Given the description of an element on the screen output the (x, y) to click on. 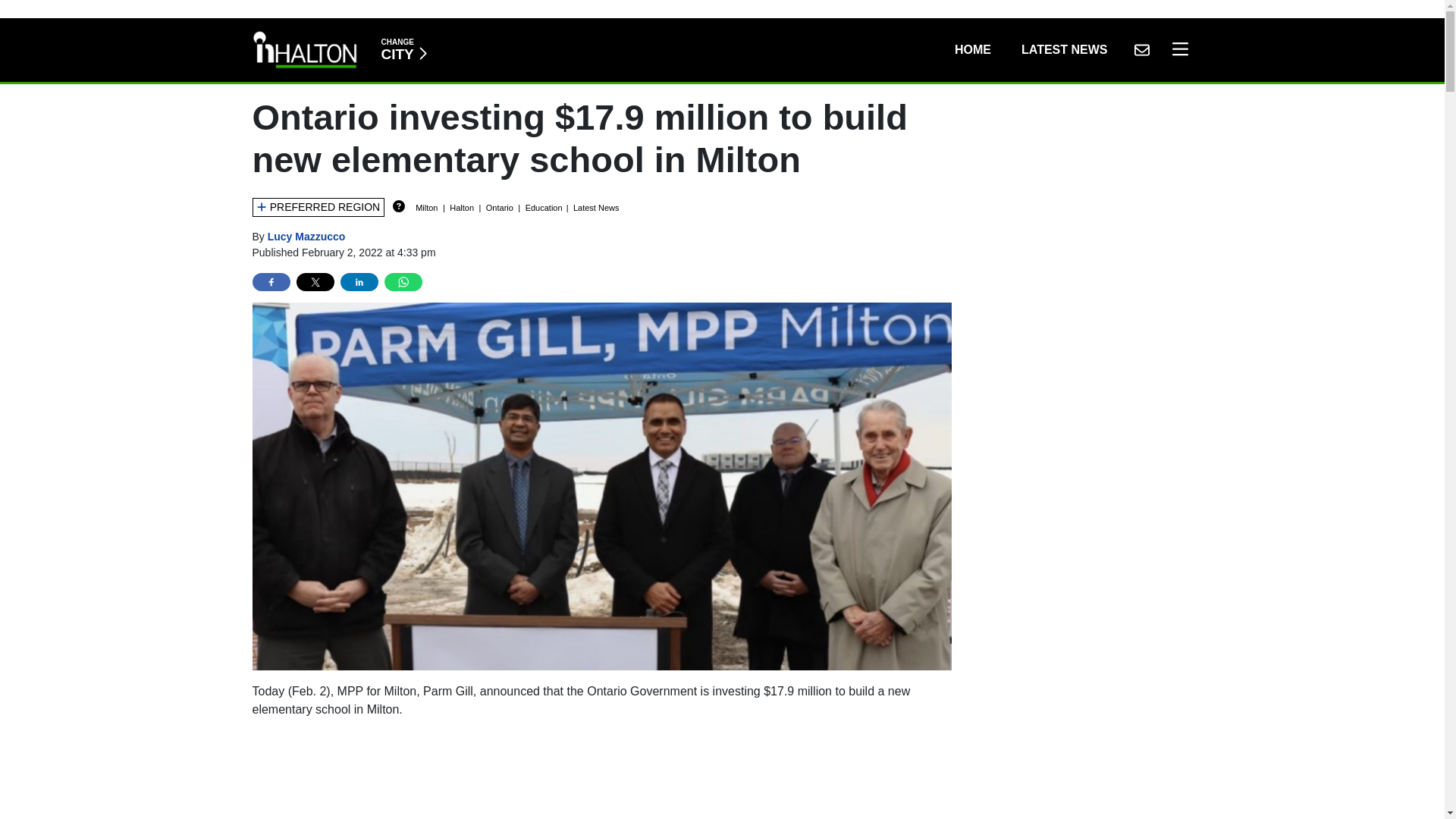
SIGN UP FOR OUR NEWSLETTER (402, 50)
3rd party ad content (1141, 50)
Posts by 820 (601, 775)
LATEST NEWS (306, 236)
OPEN MENU (1064, 49)
HOME (1176, 50)
3rd party ad content (972, 49)
